Given the description of an element on the screen output the (x, y) to click on. 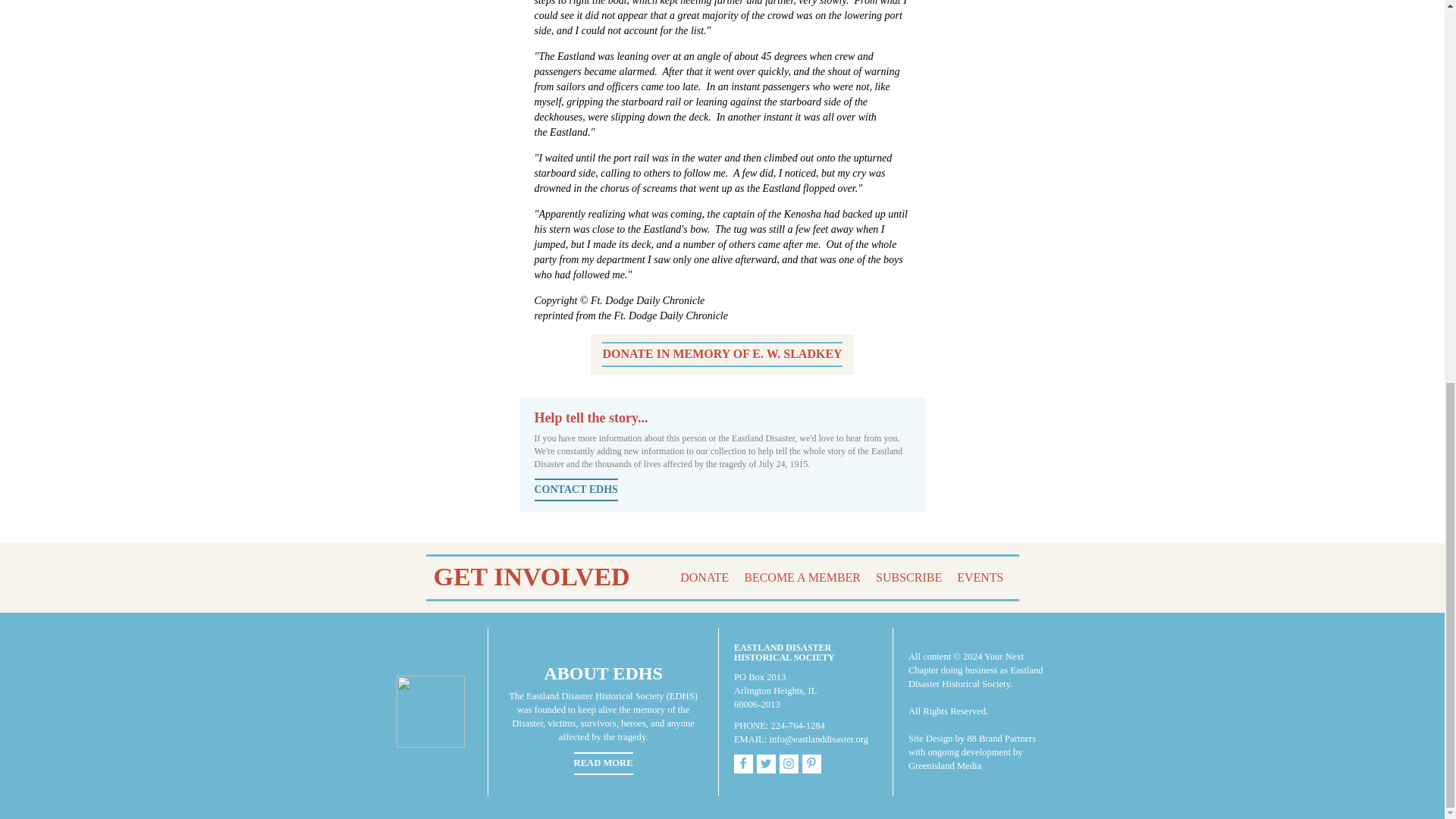
BECOME A MEMBER (802, 577)
Brand Partners (1006, 738)
EVENTS (979, 577)
READ MORE (603, 763)
DONATE (704, 577)
DONATE IN MEMORY OF E. W. SLADKEY (721, 354)
CONTACT EDHS (575, 489)
Greenisland Media (944, 765)
SUBSCRIBE (909, 577)
